Given the description of an element on the screen output the (x, y) to click on. 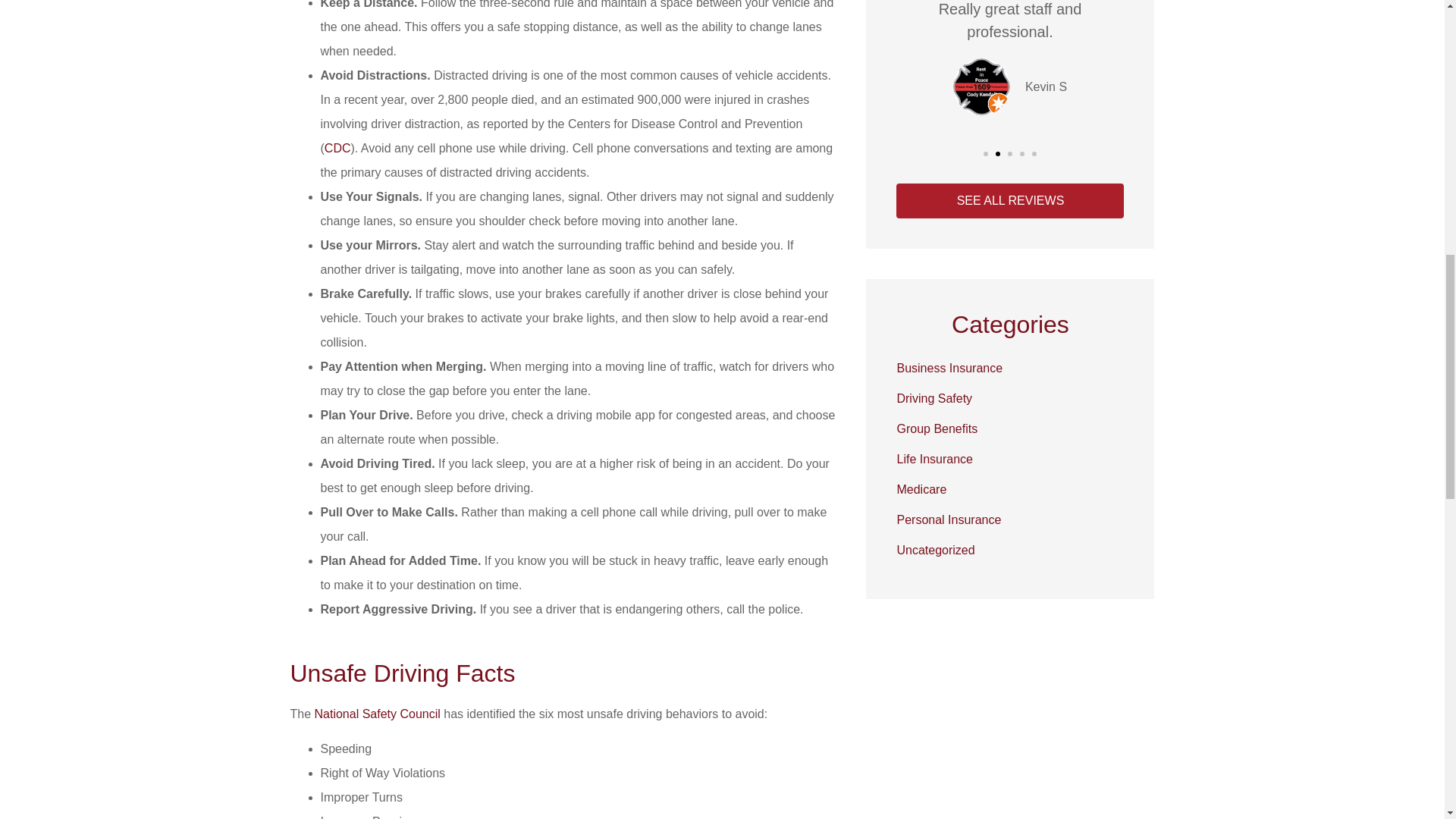
kevin short (981, 86)
